Given the description of an element on the screen output the (x, y) to click on. 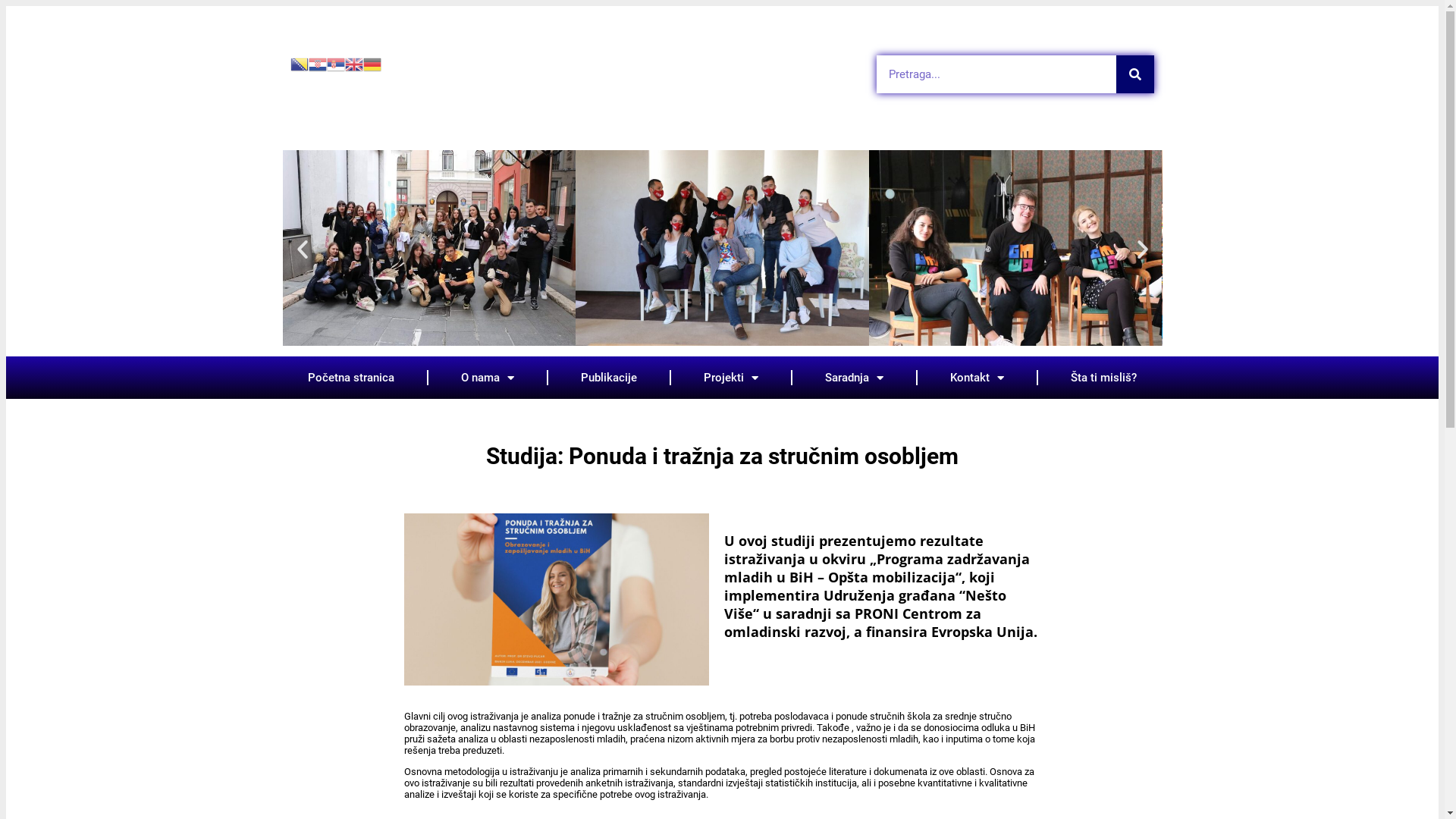
Croatian Element type: hover (316, 62)
Kontakt Element type: text (976, 377)
German Element type: hover (371, 62)
English Element type: hover (353, 62)
Bosnian Element type: hover (298, 62)
Serbian Element type: hover (335, 62)
Saradnja Element type: text (854, 377)
O nama Element type: text (487, 377)
Publikacije Element type: text (608, 377)
Projekti Element type: text (730, 377)
